Given the description of an element on the screen output the (x, y) to click on. 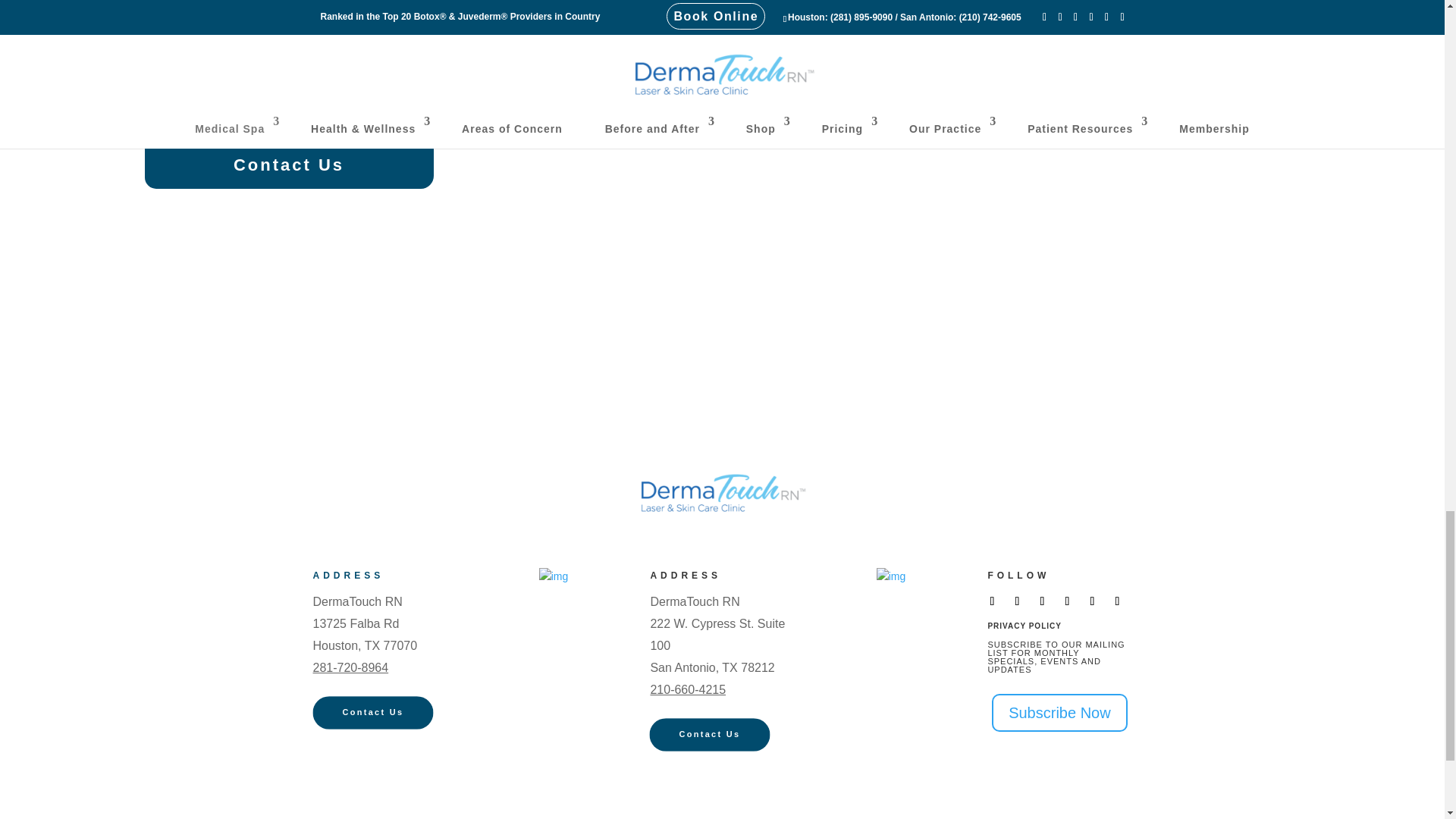
Follow on Facebook (991, 600)
Follow on LinkedIn (1117, 600)
Follow on Instagram (1041, 600)
Follow on Youtube (1066, 600)
Follow on Twitter (1016, 600)
Follow on Pinterest (1091, 600)
